Given the description of an element on the screen output the (x, y) to click on. 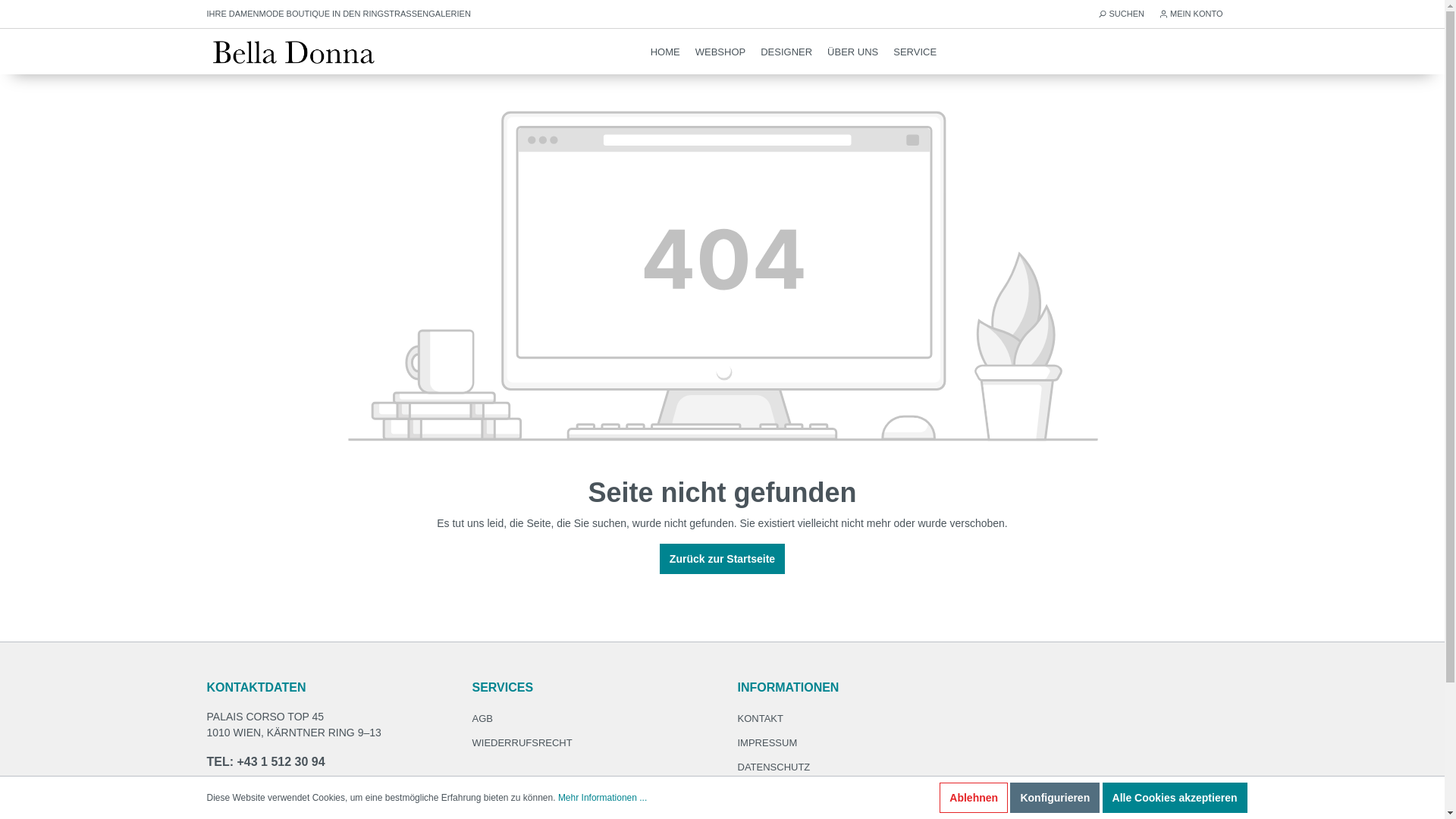
Alle Cookies akzeptieren Element type: text (1174, 797)
DESIGNER Element type: text (786, 51)
DATENSCHUTZ Element type: text (773, 766)
Warenkorb Element type: hover (1227, 51)
SERVICE Element type: text (914, 51)
Mehr Informationen ... Element type: text (602, 797)
WEBSHOP Element type: text (720, 51)
Ablehnen Element type: text (973, 797)
TEL: +43 1 512 30 94 Element type: text (323, 761)
Konfigurieren Element type: text (1054, 797)
AGB Element type: text (481, 718)
Zur Startseite wechseln Element type: hover (294, 50)
IMPRESSUM Element type: text (767, 742)
WIEDERRUFSRECHT Element type: text (521, 742)
KONTAKT Element type: text (759, 718)
HOME Element type: text (665, 51)
